Given the description of an element on the screen output the (x, y) to click on. 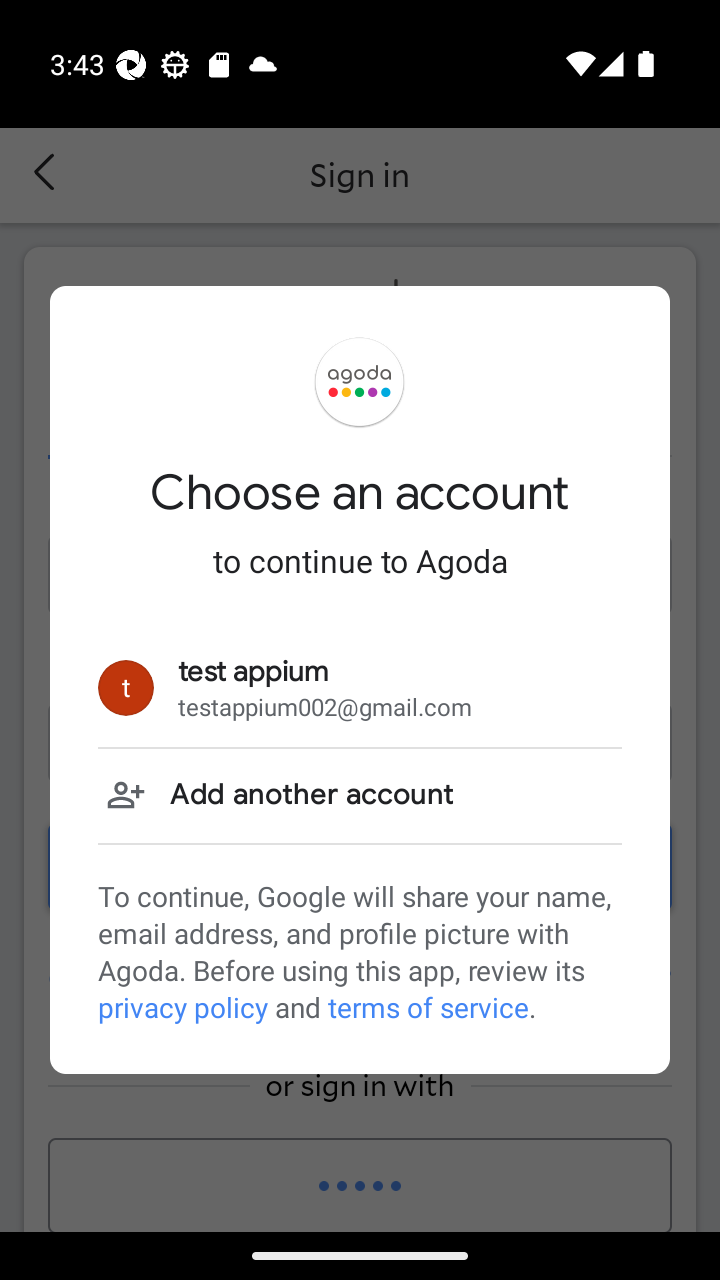
test appium testappium002@gmail.com (359, 688)
Add another account (359, 795)
